Given the description of an element on the screen output the (x, y) to click on. 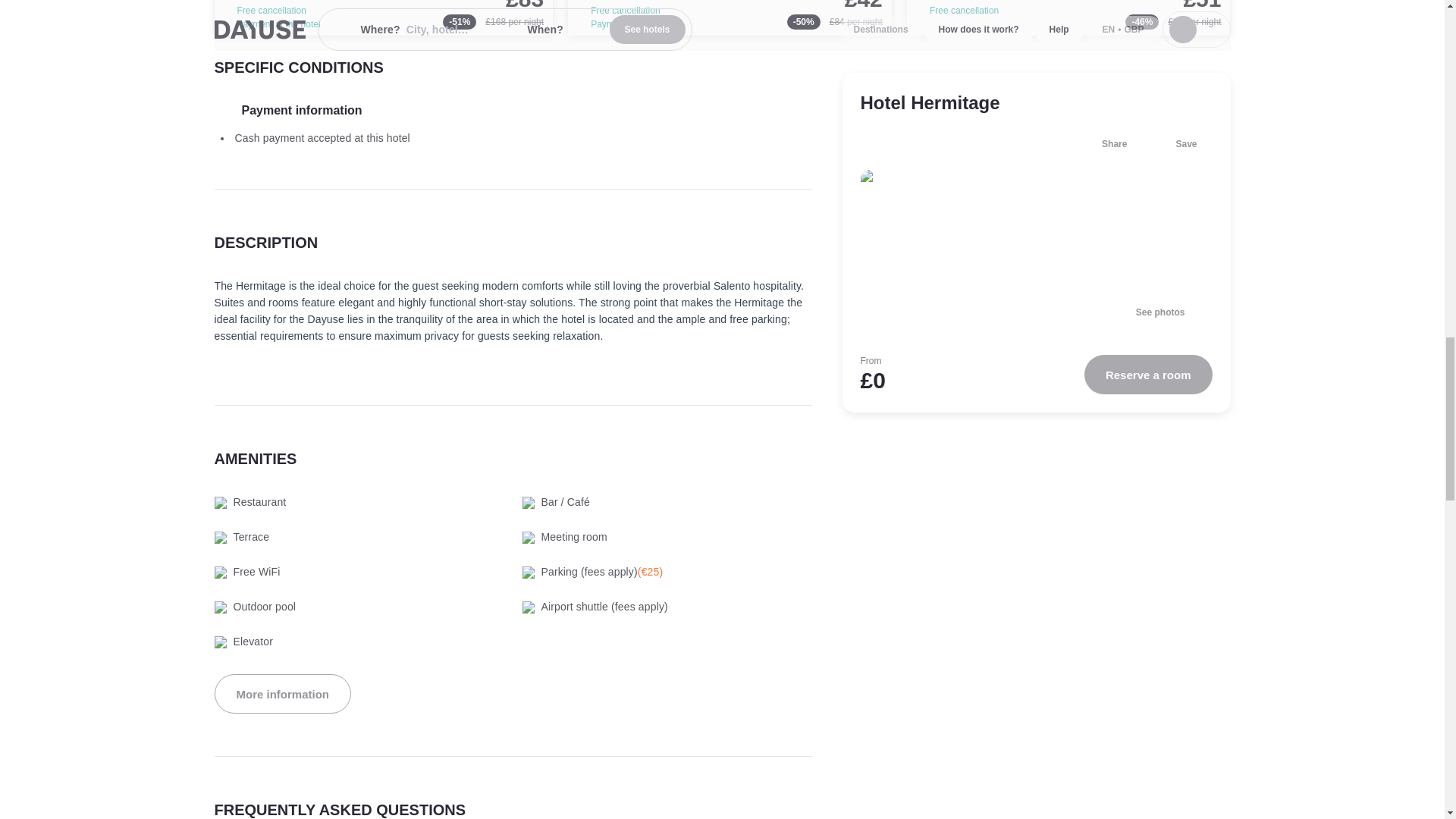
TS Residence (383, 18)
Hotel Eos Lecce (729, 18)
Hilton Garden Inn Lecce (1068, 18)
